Given the description of an element on the screen output the (x, y) to click on. 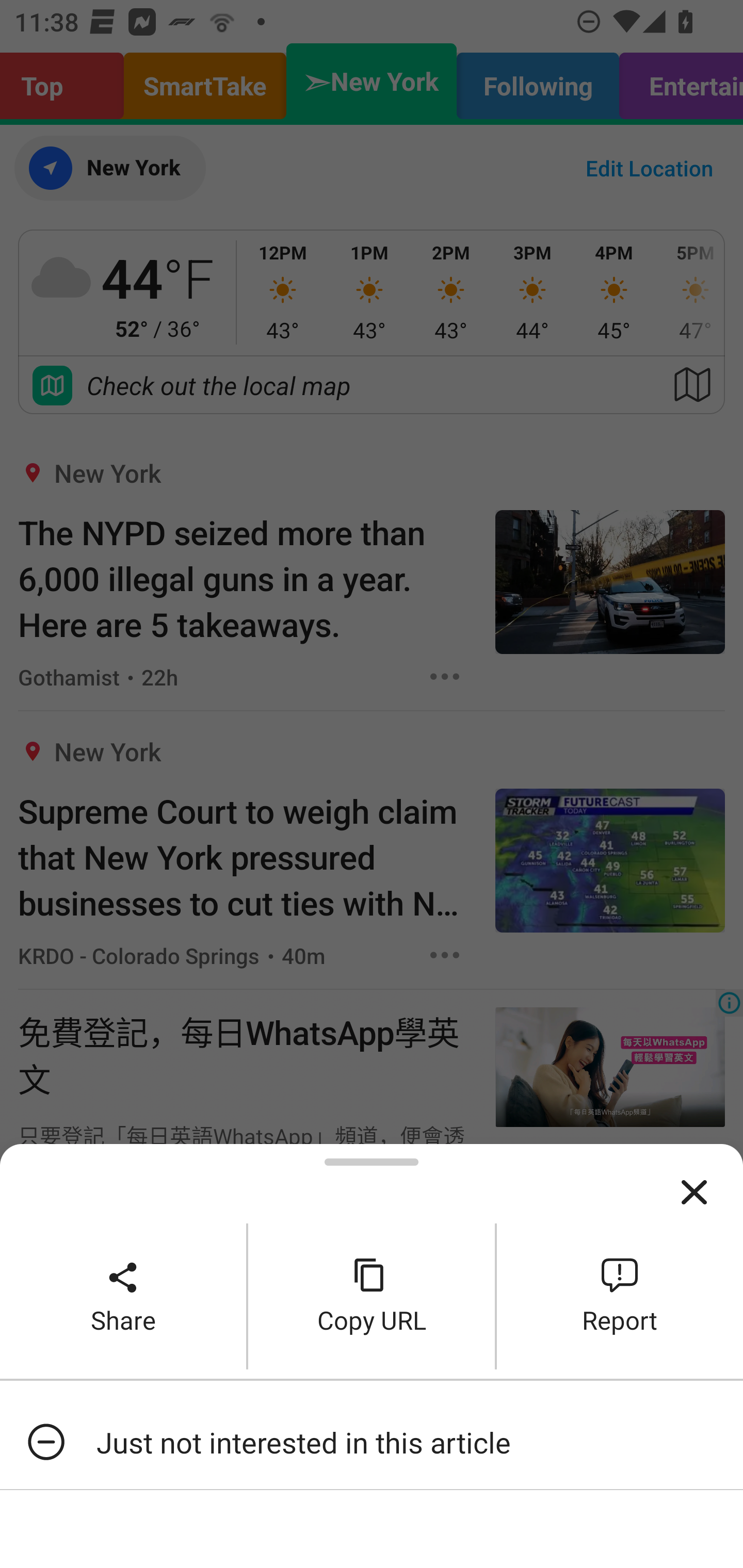
Close (694, 1192)
Share (122, 1295)
Copy URL (371, 1295)
Report (620, 1295)
Just not interested in this article (371, 1442)
